Given the description of an element on the screen output the (x, y) to click on. 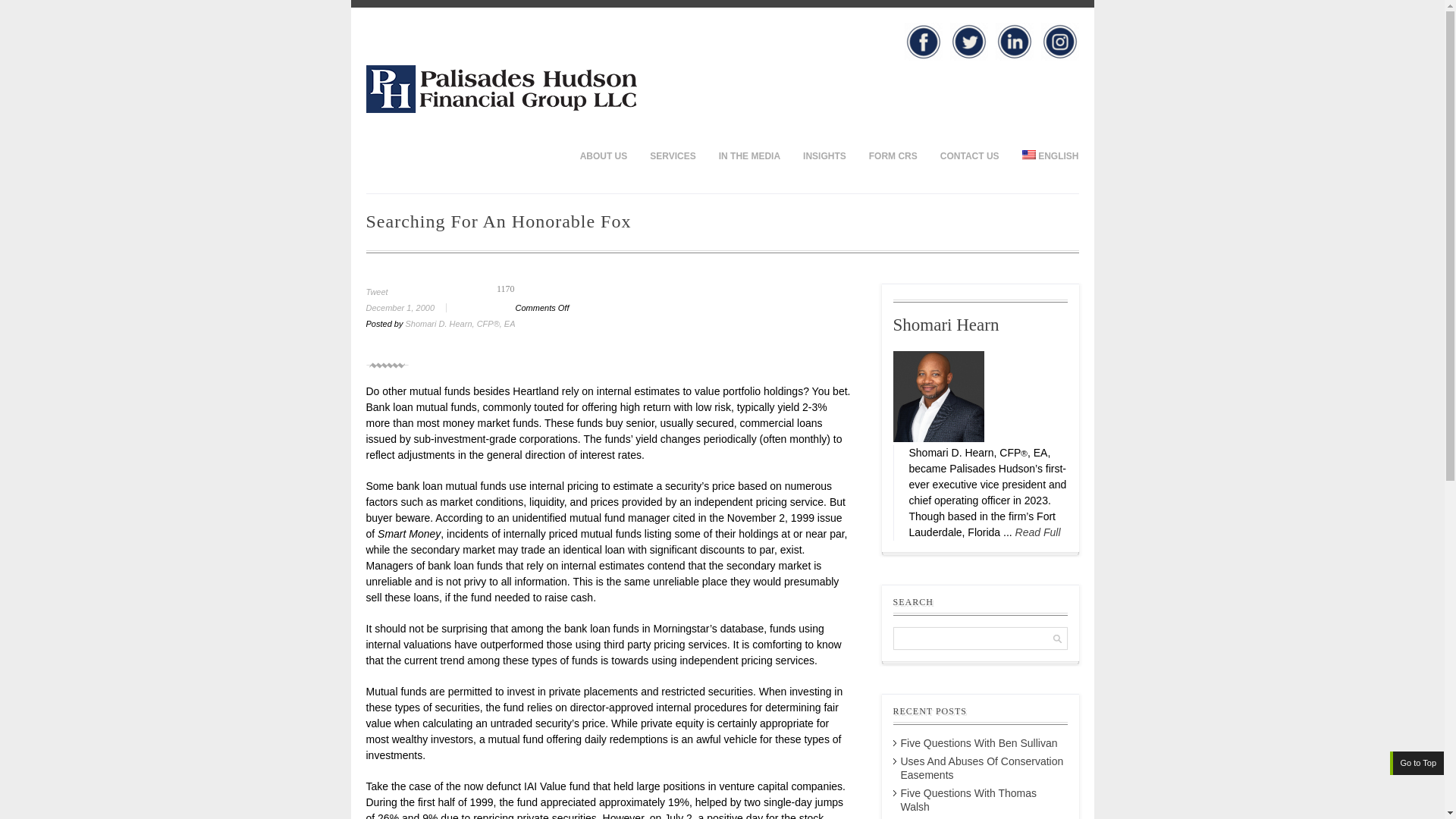
CONTACT US (969, 155)
Instagram (1059, 41)
ABOUT US (604, 155)
LinkedIn (1013, 41)
Read full Profile (1037, 532)
SERVICES (672, 155)
Search (24, 9)
English (1028, 153)
Uses And Abuses Of Conservation Easements (982, 768)
Tweet (376, 291)
12:00 am (411, 307)
Five Questions With Ben Sullivan (979, 743)
Twitter (968, 41)
IN THE MEDIA (749, 155)
Five Questions With Thomas Walsh (968, 800)
